Given the description of an element on the screen output the (x, y) to click on. 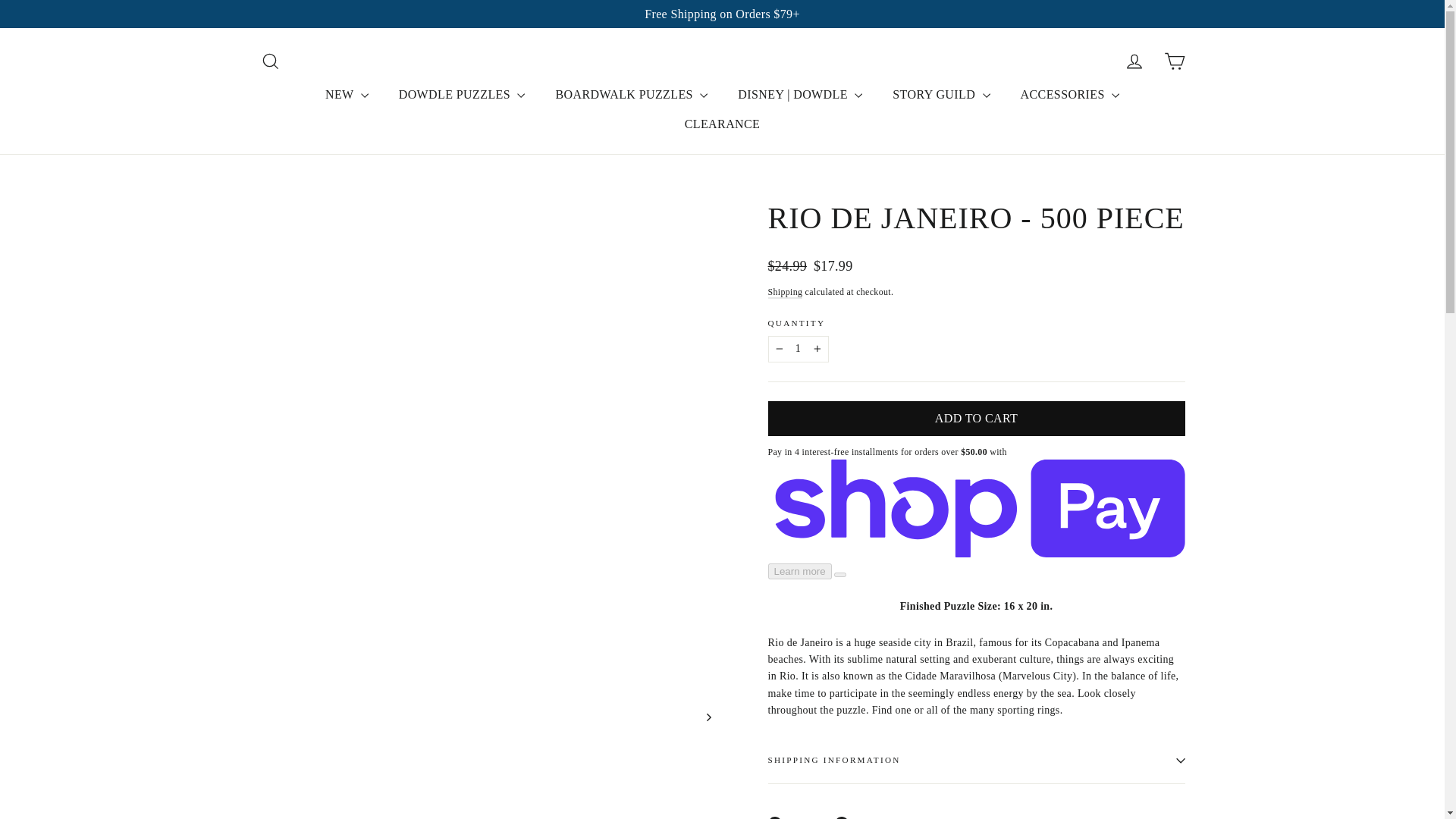
ICON-SEARCH (270, 61)
ACCOUNT (1134, 61)
1 (797, 348)
Pin on Pinterest (861, 816)
ICON-CART (1174, 61)
Share on Facebook (794, 816)
